Given the description of an element on the screen output the (x, y) to click on. 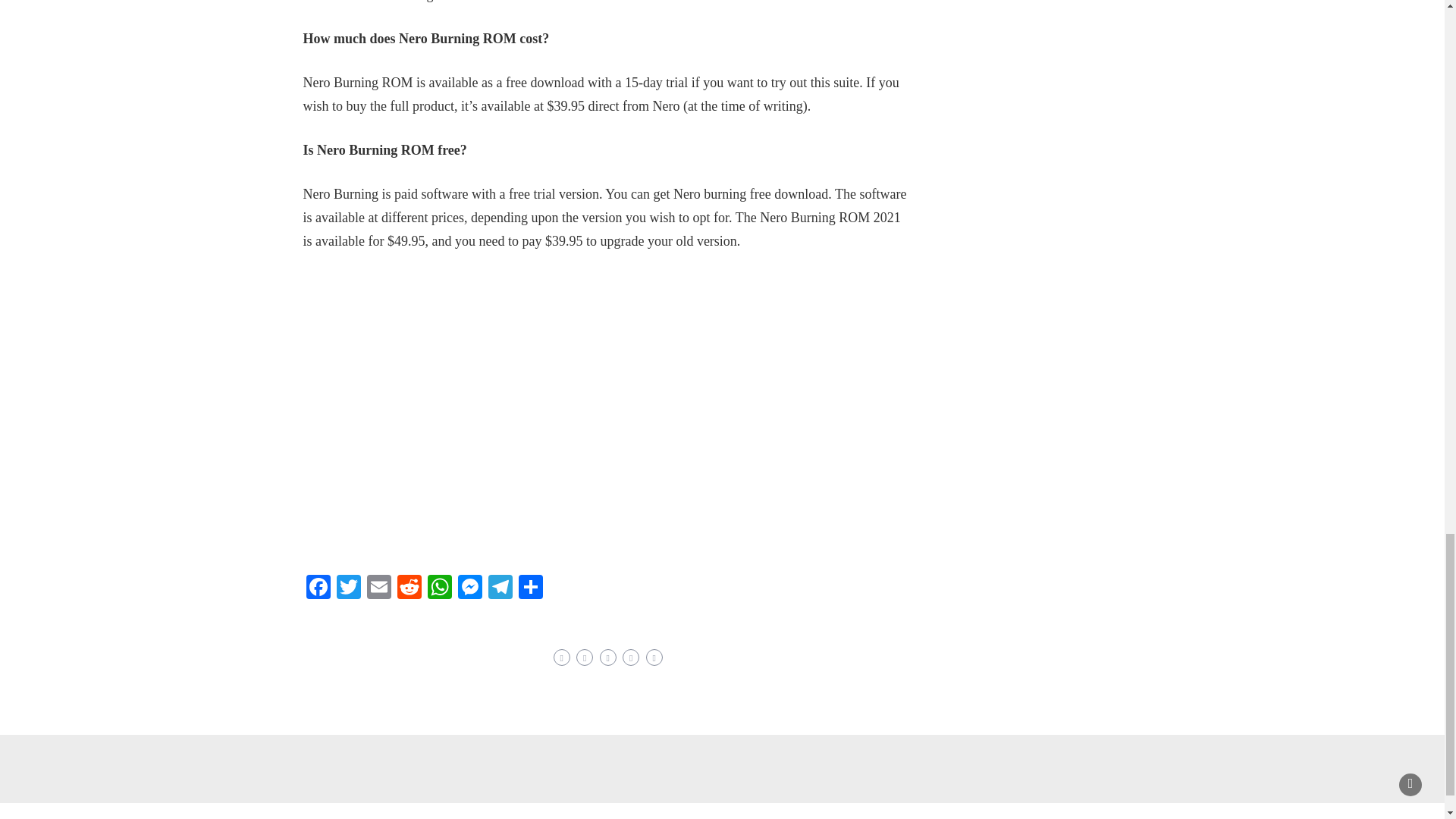
Nero Video Stopped Working (545, 410)
Messenger (469, 588)
Telegram (499, 588)
Messenger (469, 588)
Reddit (409, 588)
Telegram (499, 588)
Email (379, 588)
Facebook (317, 588)
Twitter (348, 588)
WhatsApp (439, 588)
Twitter (348, 588)
Reddit (409, 588)
Facebook (317, 588)
Email (379, 588)
WhatsApp (439, 588)
